Given the description of an element on the screen output the (x, y) to click on. 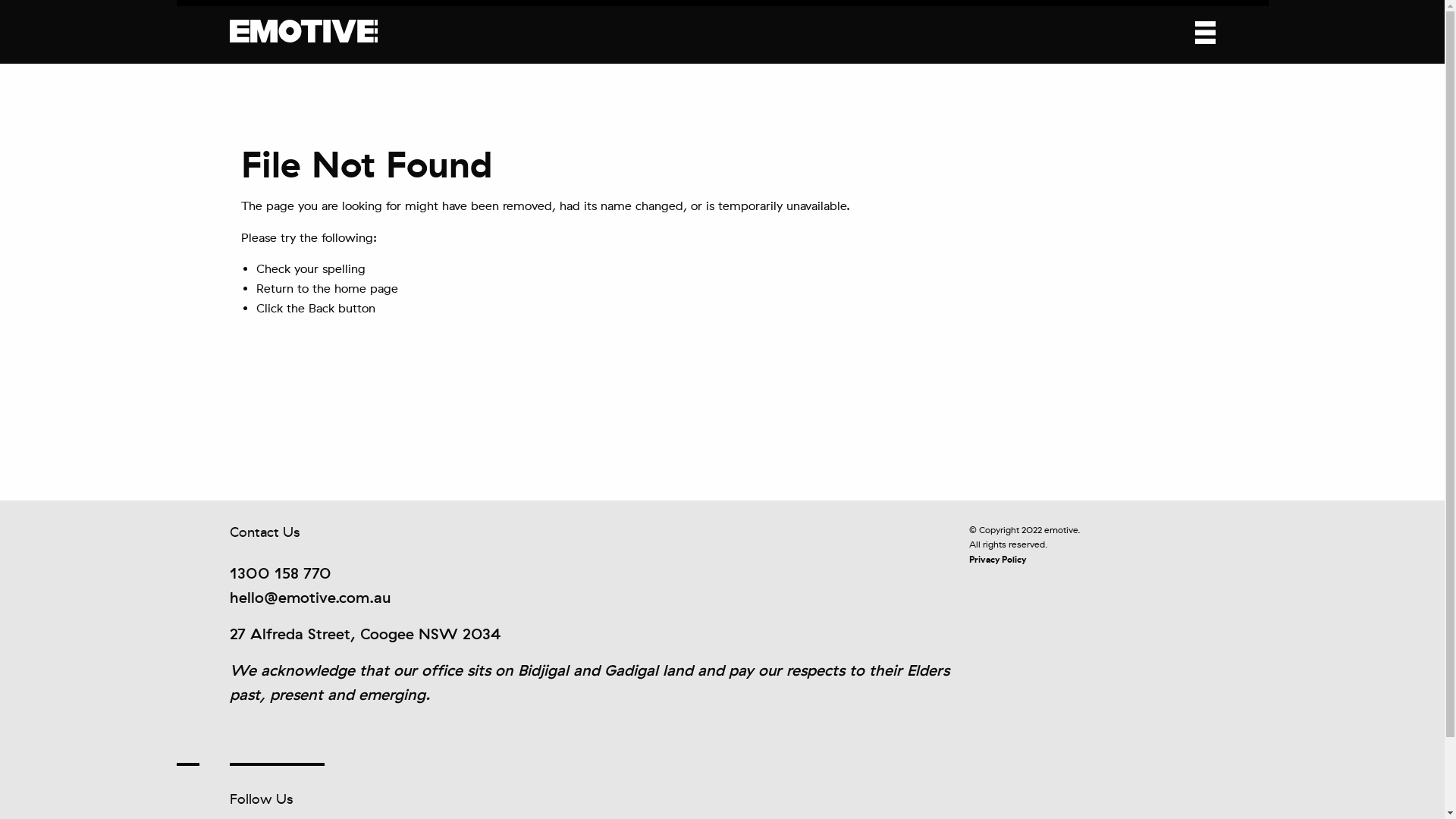
1300 158 770 Element type: text (279, 573)
hello@emotive.com.au Element type: text (309, 597)
Back Element type: text (320, 308)
Privacy Policy Element type: text (997, 559)
home page Element type: text (365, 288)
